Given the description of an element on the screen output the (x, y) to click on. 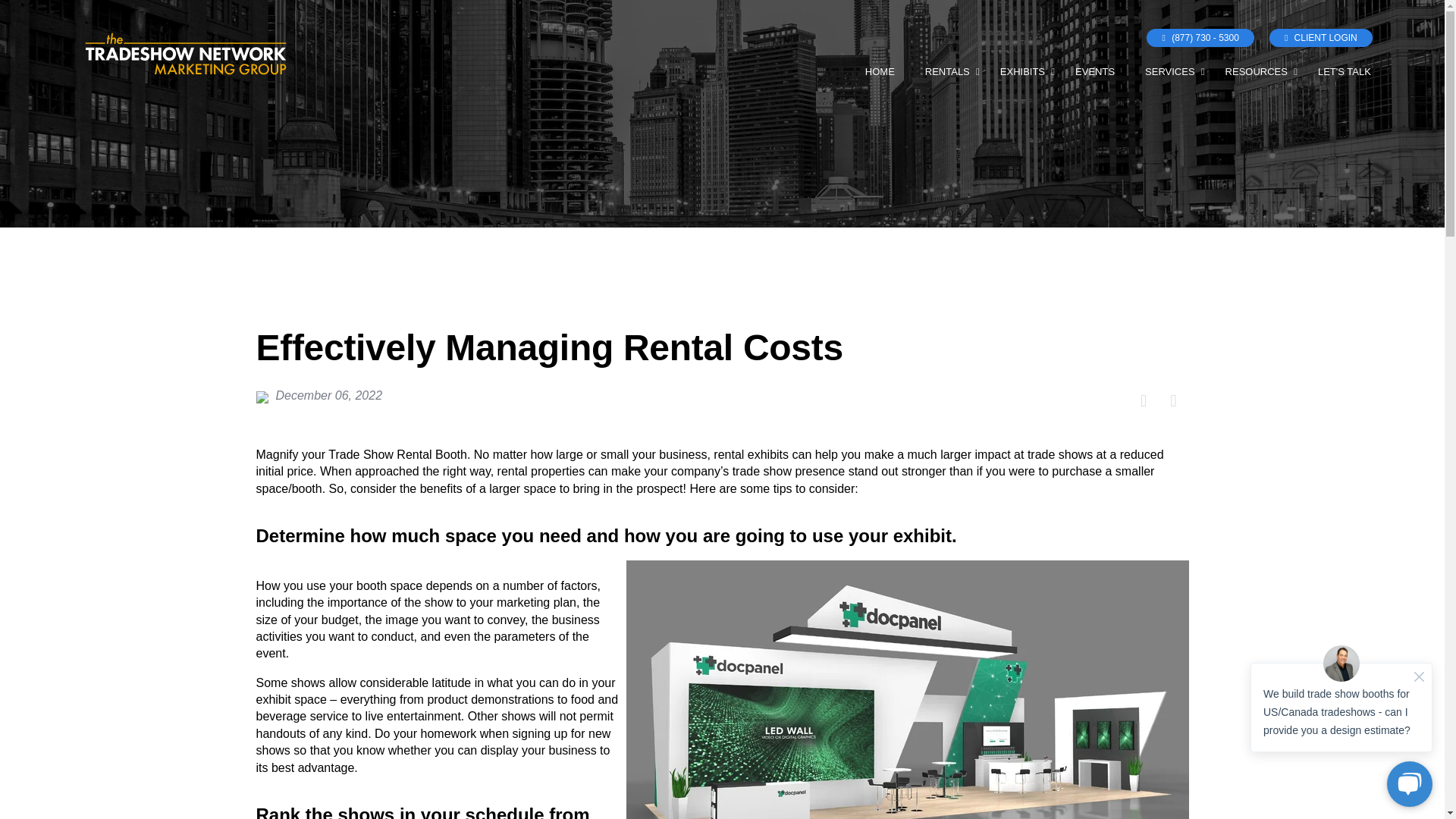
EXHIBITS (1022, 68)
RESOURCES (1256, 68)
TTNMG-logo-white (185, 56)
HOME (879, 68)
SERVICES (1169, 68)
RENTALS (946, 68)
EVENTS (1095, 68)
LET'S TALK (1344, 68)
CLIENT LOGIN (1321, 37)
